Given the description of an element on the screen output the (x, y) to click on. 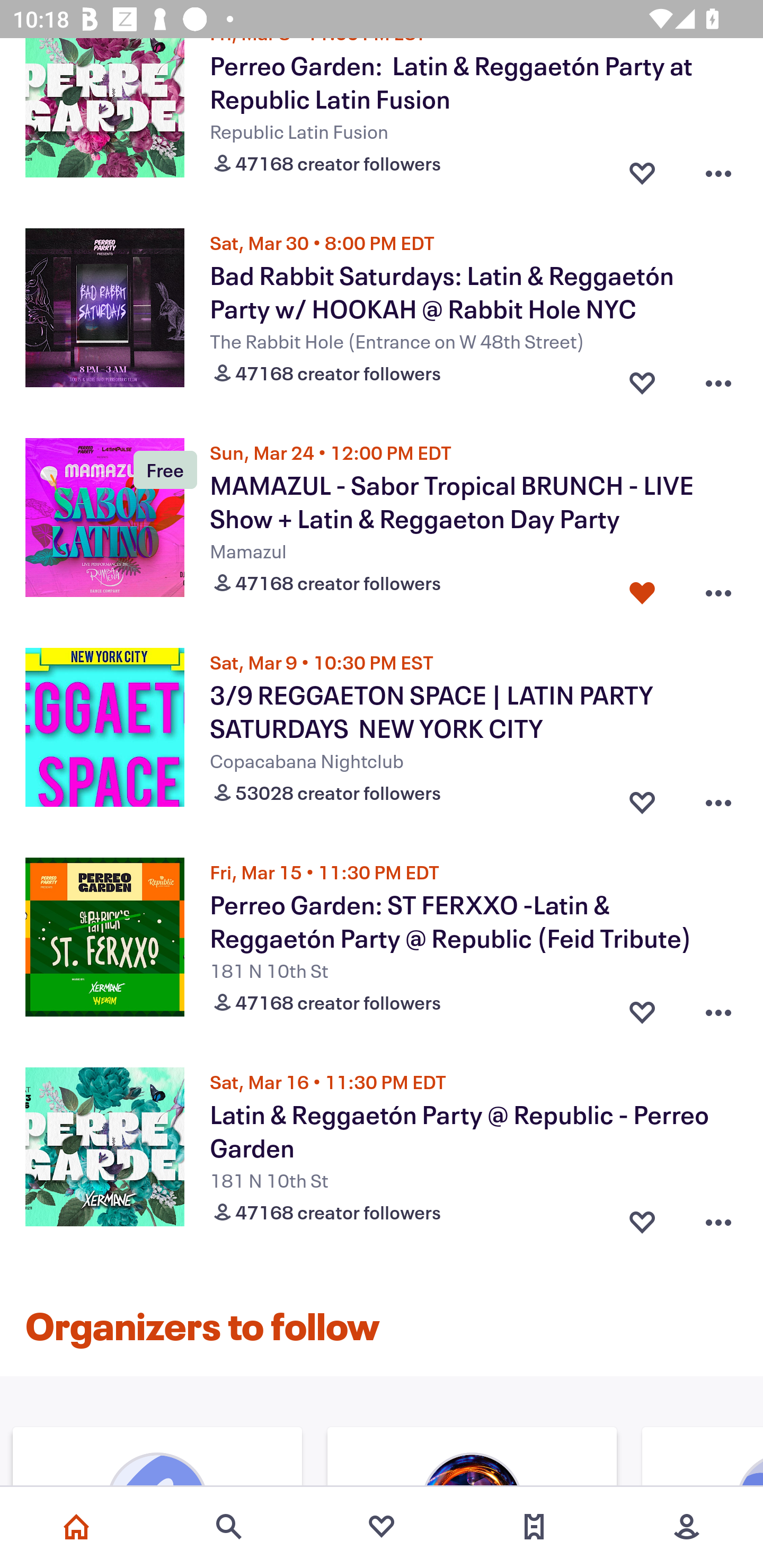
Favorite button (642, 168)
Overflow menu button (718, 168)
Favorite button (642, 378)
Overflow menu button (718, 378)
Favorite button (642, 588)
Overflow menu button (718, 588)
Favorite button (642, 798)
Overflow menu button (718, 798)
Favorite button (642, 1008)
Overflow menu button (718, 1008)
Favorite button (642, 1217)
Overflow menu button (718, 1217)
Home (76, 1526)
Search events (228, 1526)
Favorites (381, 1526)
Tickets (533, 1526)
More (686, 1526)
